Given the description of an element on the screen output the (x, y) to click on. 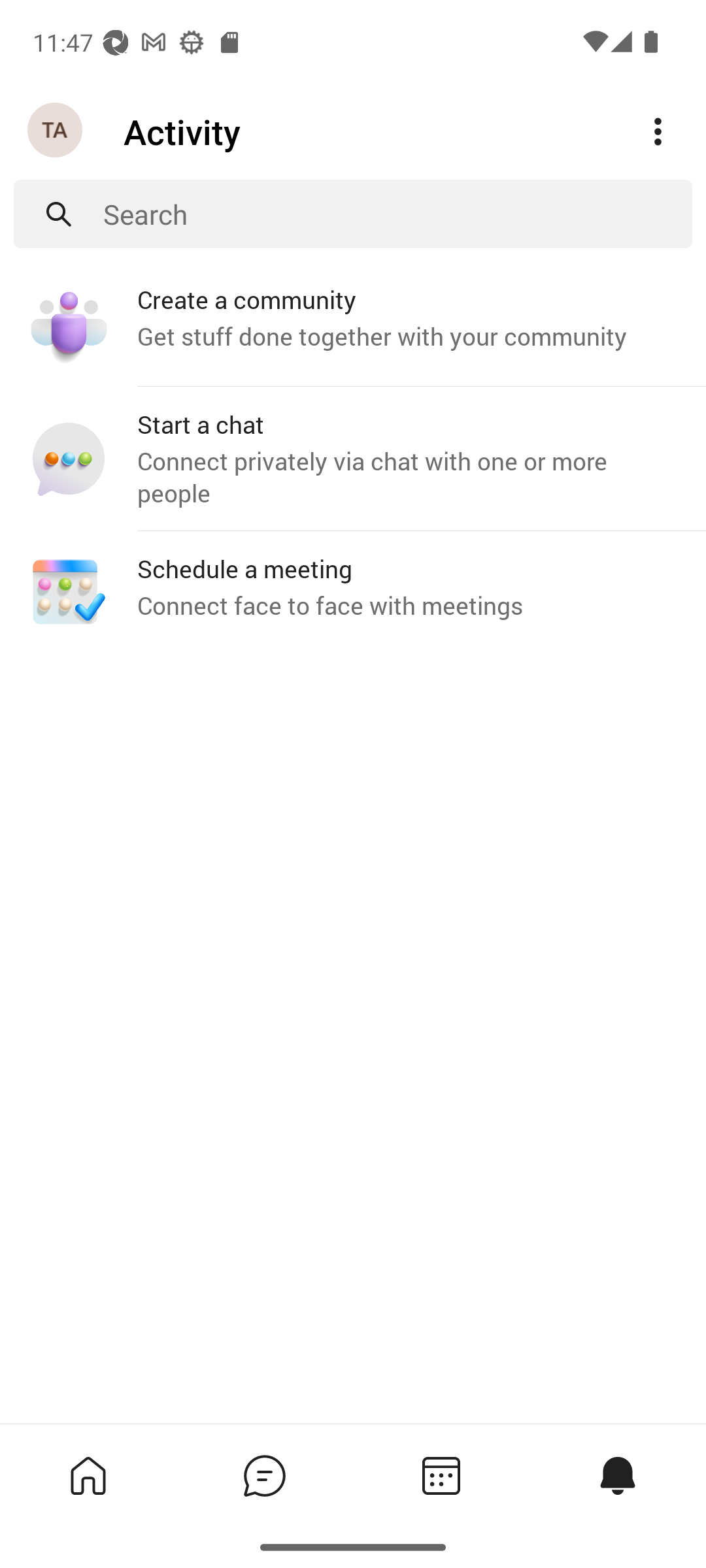
More options (657, 131)
Navigation (56, 130)
Search (397, 213)
Home tab,1 of 4, not selected (88, 1475)
Chat tab,2 of 4, not selected (264, 1475)
Calendar tab,3 of 4, not selected (441, 1475)
Activity tab,4 of 4, selected (617, 1475)
